Given the description of an element on the screen output the (x, y) to click on. 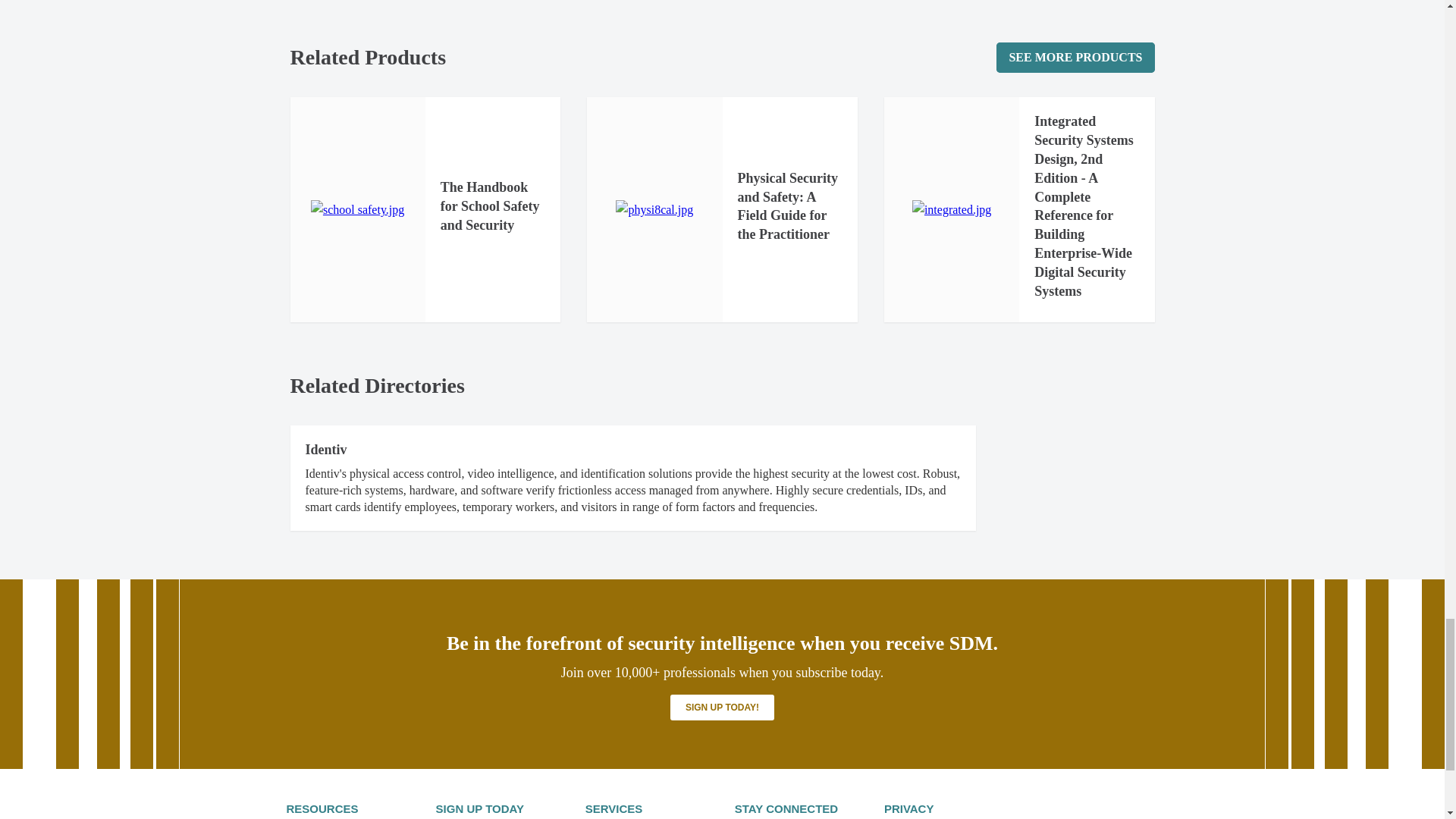
physi8cal.jpg (654, 209)
school safety.jpg (357, 209)
integrated.jpg (951, 209)
